Given the description of an element on the screen output the (x, y) to click on. 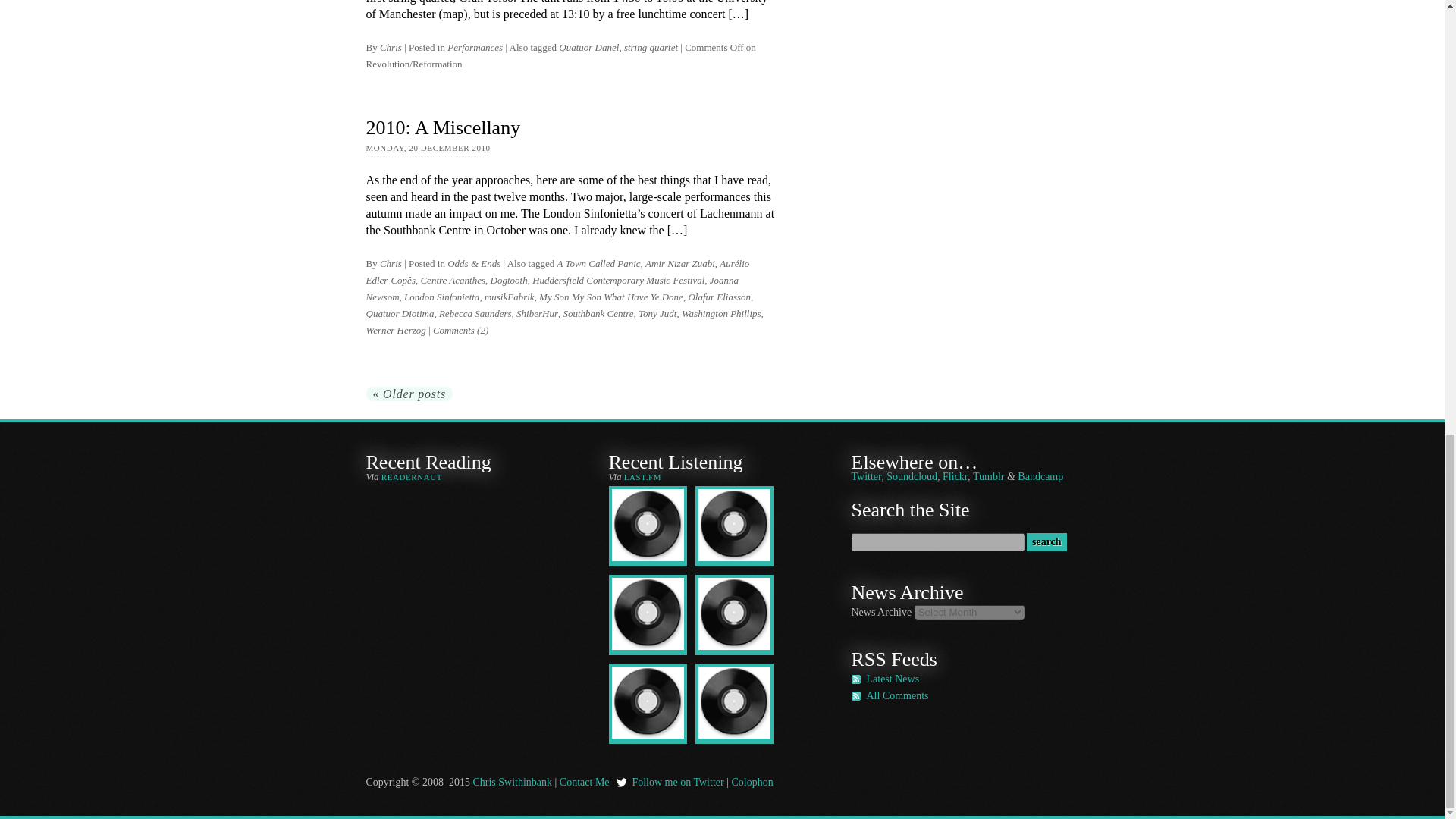
Chris (390, 263)
Search (1046, 542)
Performances (474, 47)
2010: A Miscellany (442, 127)
View all posts by Chris (390, 47)
string quartet (651, 47)
Chris Swithinbank Posts RSS feed (892, 678)
A Town Called Panic (598, 263)
Permalink to 2010: A Miscellany (442, 127)
View all posts by Chris (390, 263)
Chris (390, 47)
Quatuor Danel (588, 47)
